Given the description of an element on the screen output the (x, y) to click on. 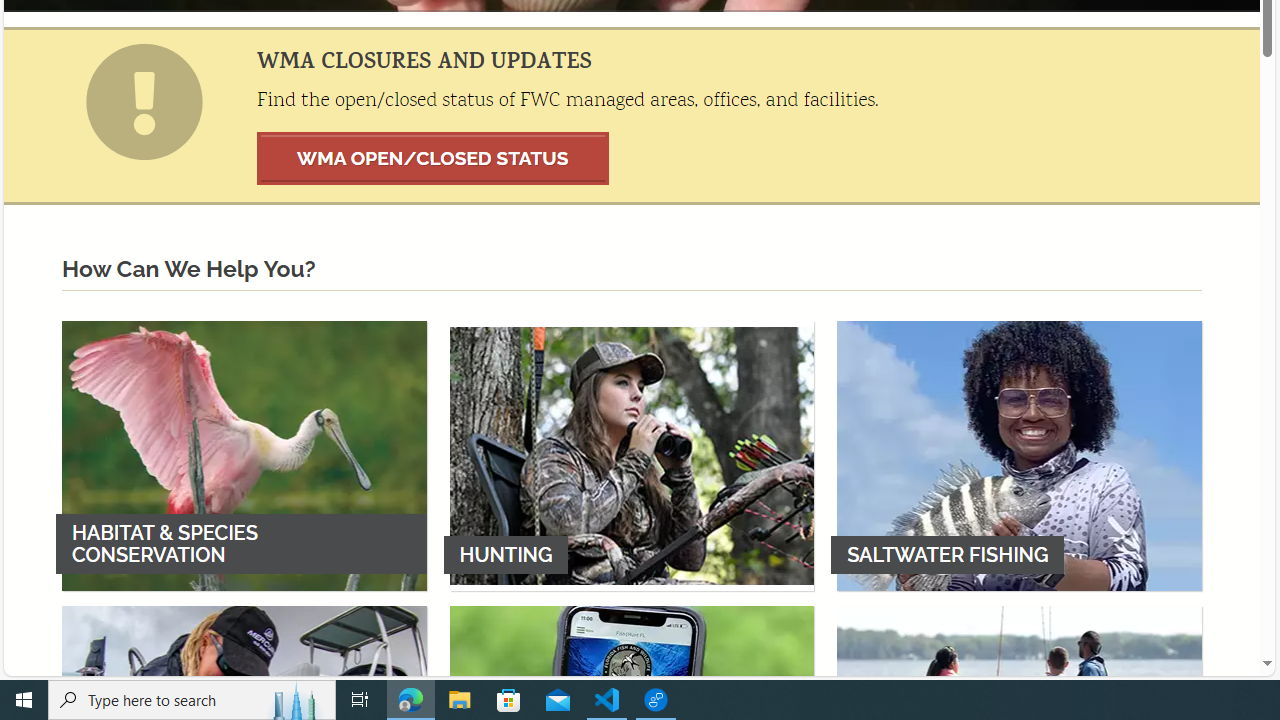
WMA OPEN/CLOSED STATUS (433, 158)
HABITAT & SPECIES CONSERVATION (244, 455)
SALTWATER FISHING (1019, 455)
HUNTING (632, 455)
